Given the description of an element on the screen output the (x, y) to click on. 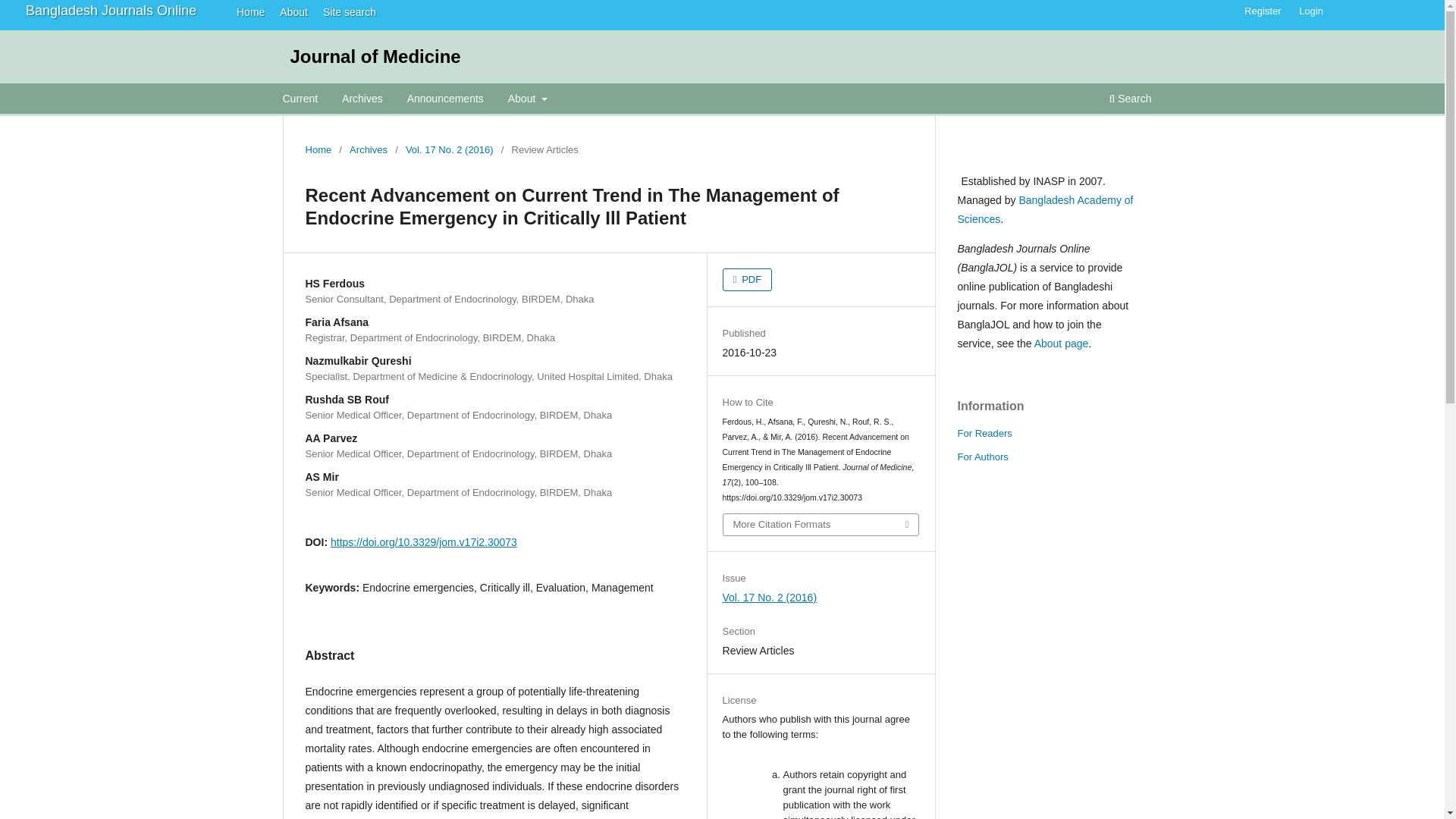
About (289, 11)
Announcements (445, 99)
About (527, 99)
Login (1310, 11)
Current (300, 99)
Home (245, 11)
Bangladesh Journals Online (111, 10)
Archives (368, 150)
Journal of Medicine (374, 56)
More Citation Formats (820, 524)
